Given the description of an element on the screen output the (x, y) to click on. 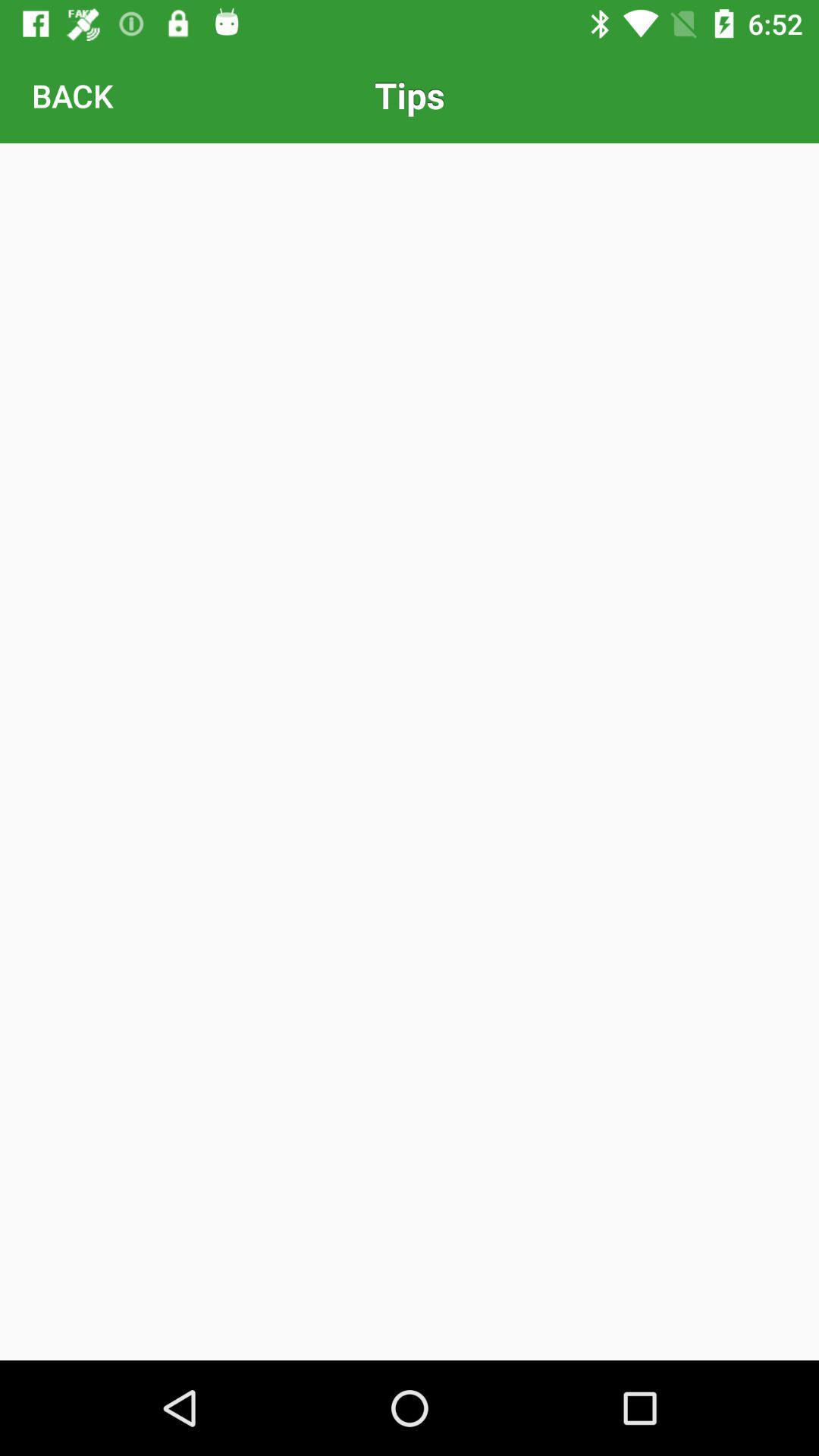
select the icon at the top left corner (72, 95)
